Given the description of an element on the screen output the (x, y) to click on. 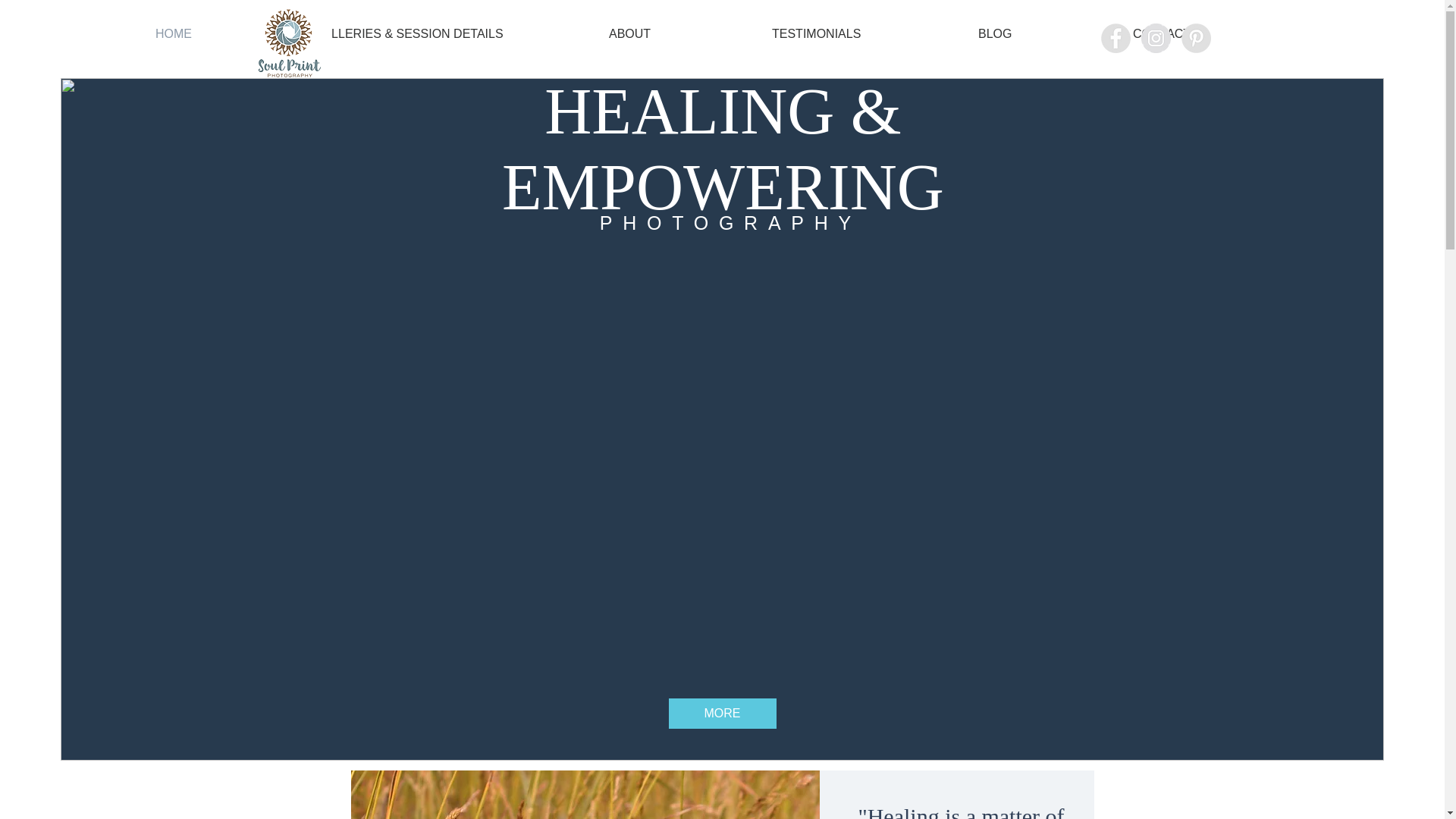
TESTIMONIALS (863, 34)
BLOG (1043, 34)
HOME (223, 34)
ABOUT (678, 34)
CONTACT (1210, 34)
MORE (722, 713)
